Given the description of an element on the screen output the (x, y) to click on. 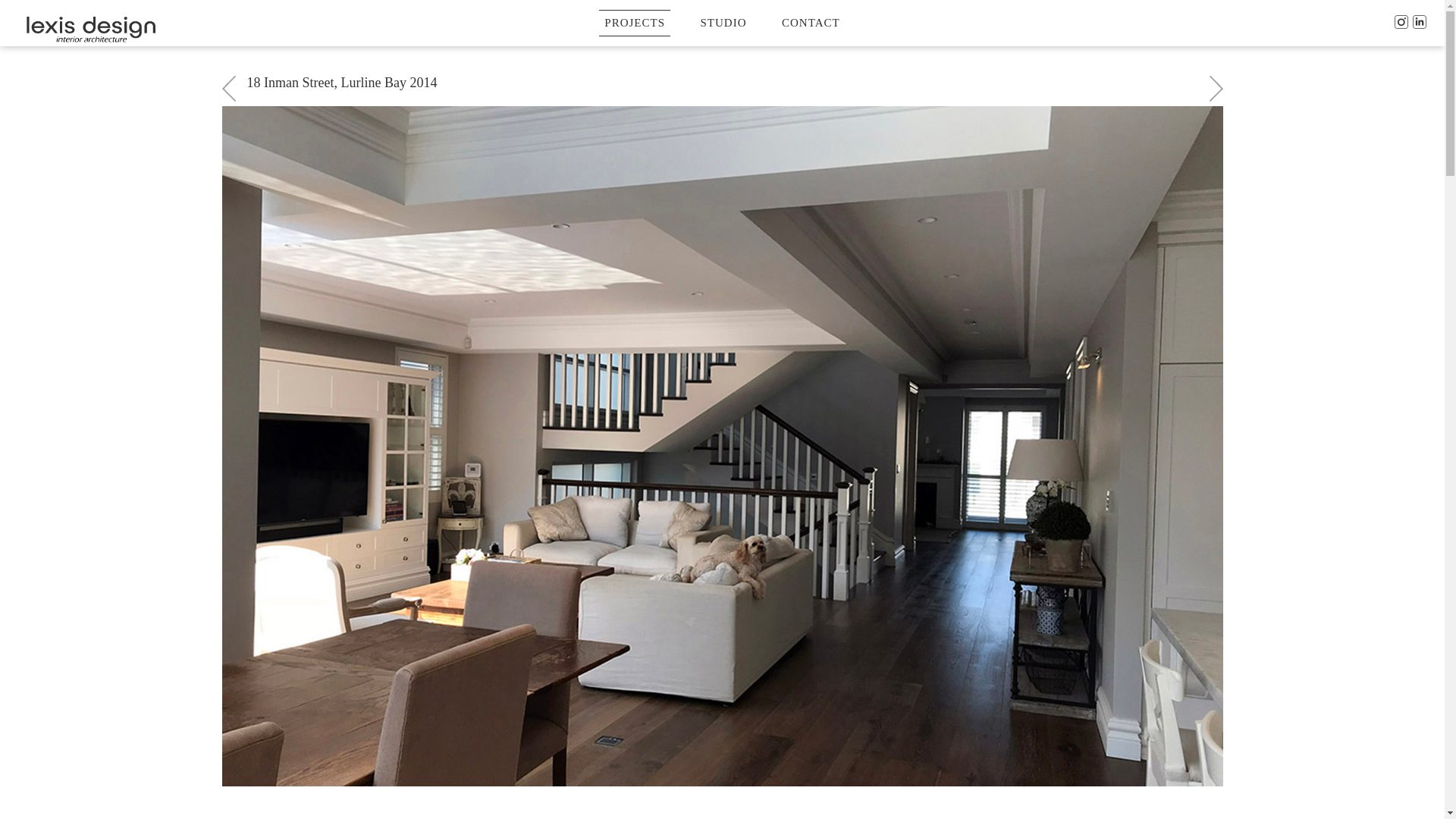
PROJECTS Element type: text (634, 22)
CONTACT Element type: text (810, 22)
STUDIO Element type: text (723, 22)
